Given the description of an element on the screen output the (x, y) to click on. 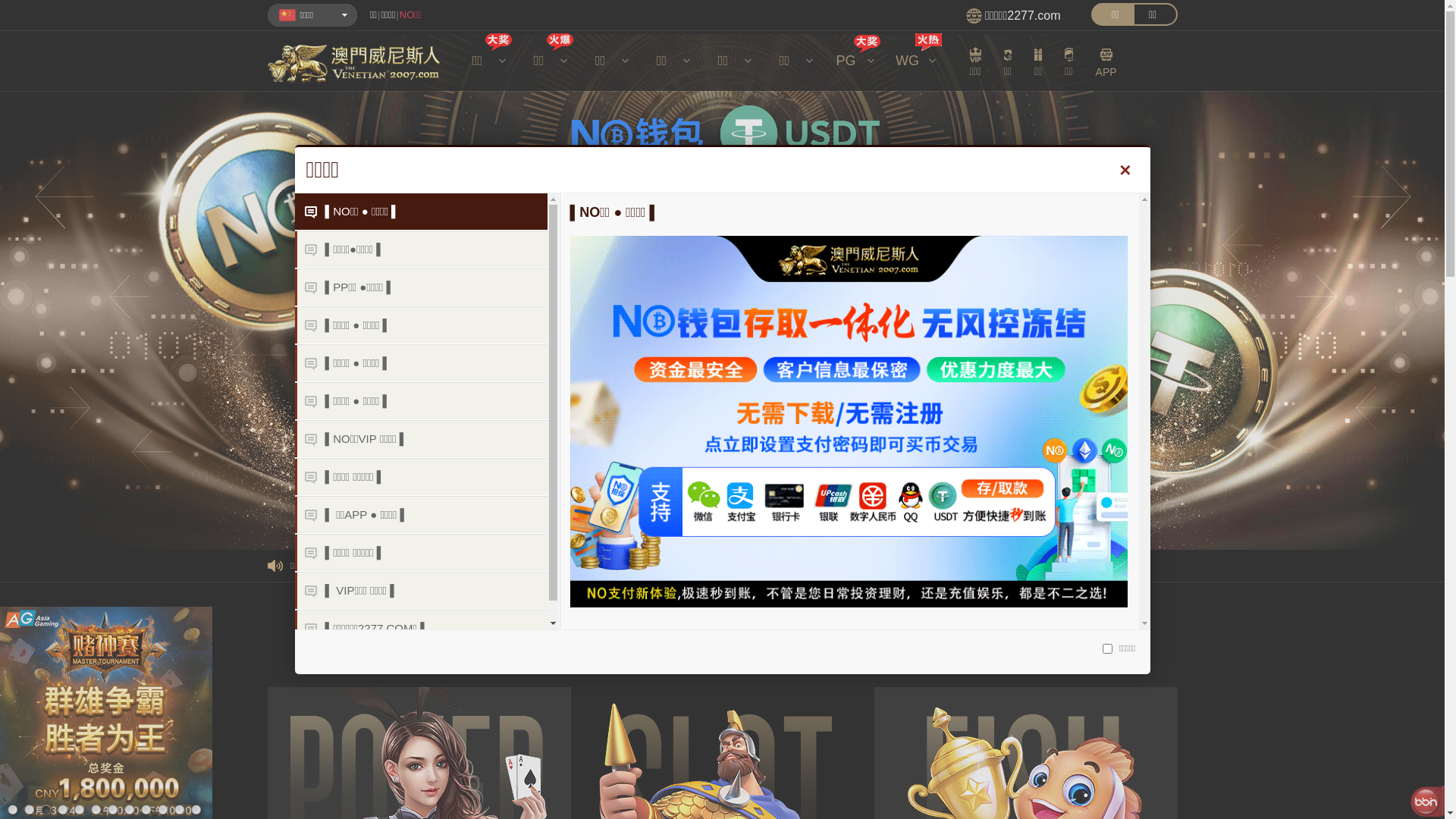
WG Element type: text (910, 60)
APP Element type: text (1106, 62)
PG Element type: text (849, 60)
2277.com Element type: text (1033, 15)
